Given the description of an element on the screen output the (x, y) to click on. 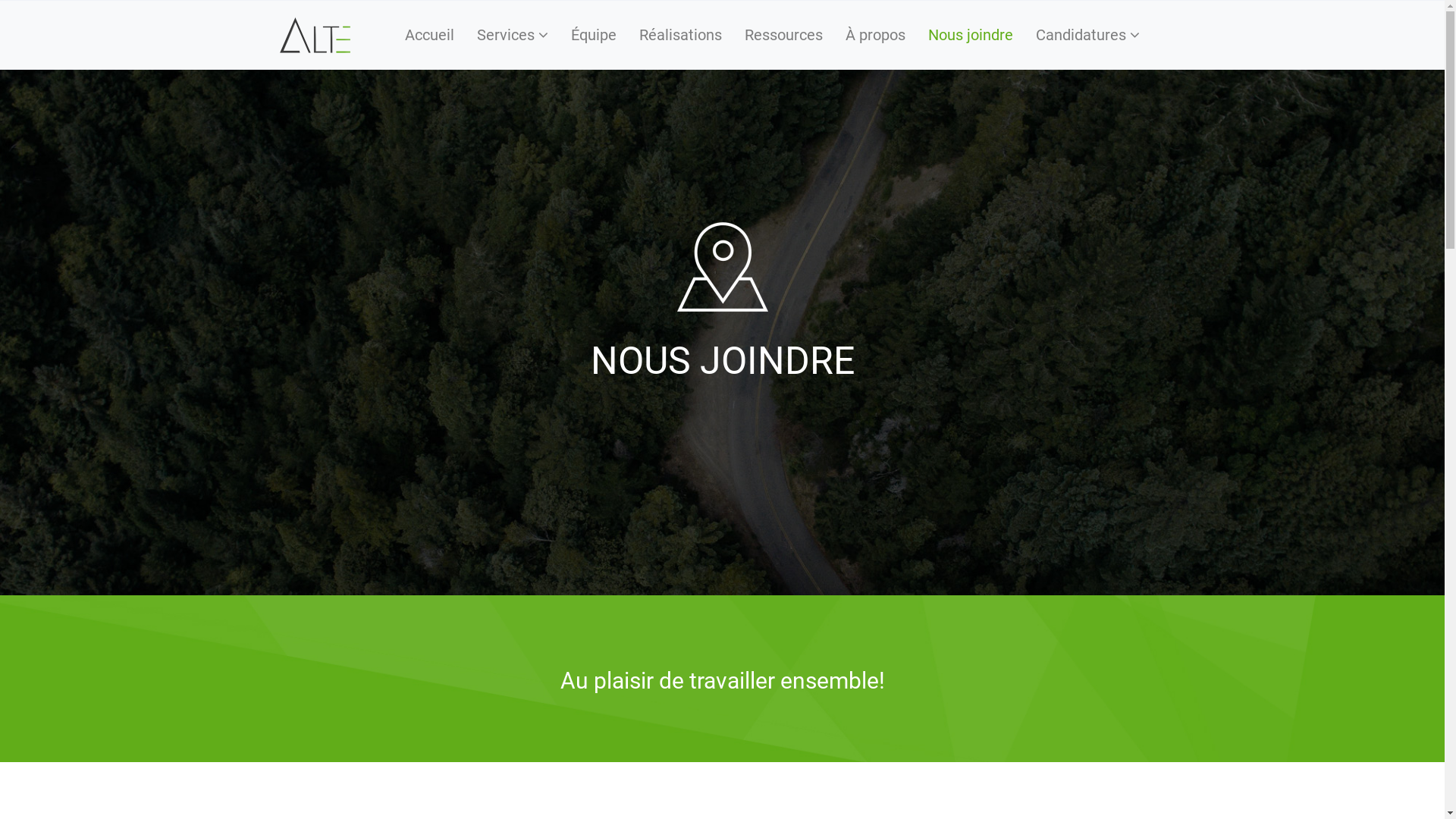
Candidatures Element type: text (1086, 34)
Ressources Element type: text (782, 34)
ALTE Element type: hover (315, 34)
Accueil Element type: text (428, 34)
Nous joindre Element type: text (969, 34)
Nous joindre Element type: hover (721, 266)
Services Element type: text (512, 34)
